Given the description of an element on the screen output the (x, y) to click on. 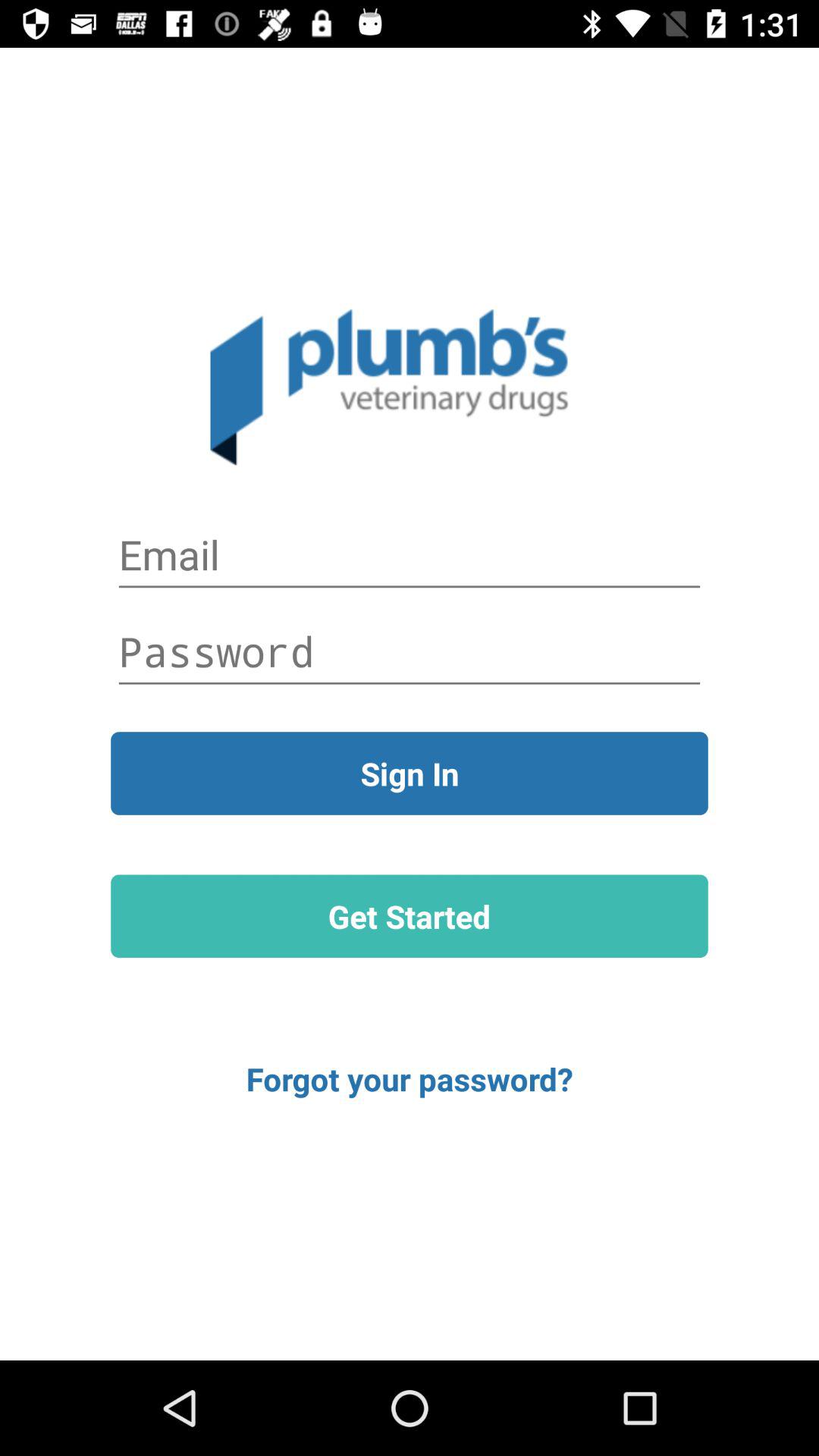
turn off the item above get started (409, 773)
